Given the description of an element on the screen output the (x, y) to click on. 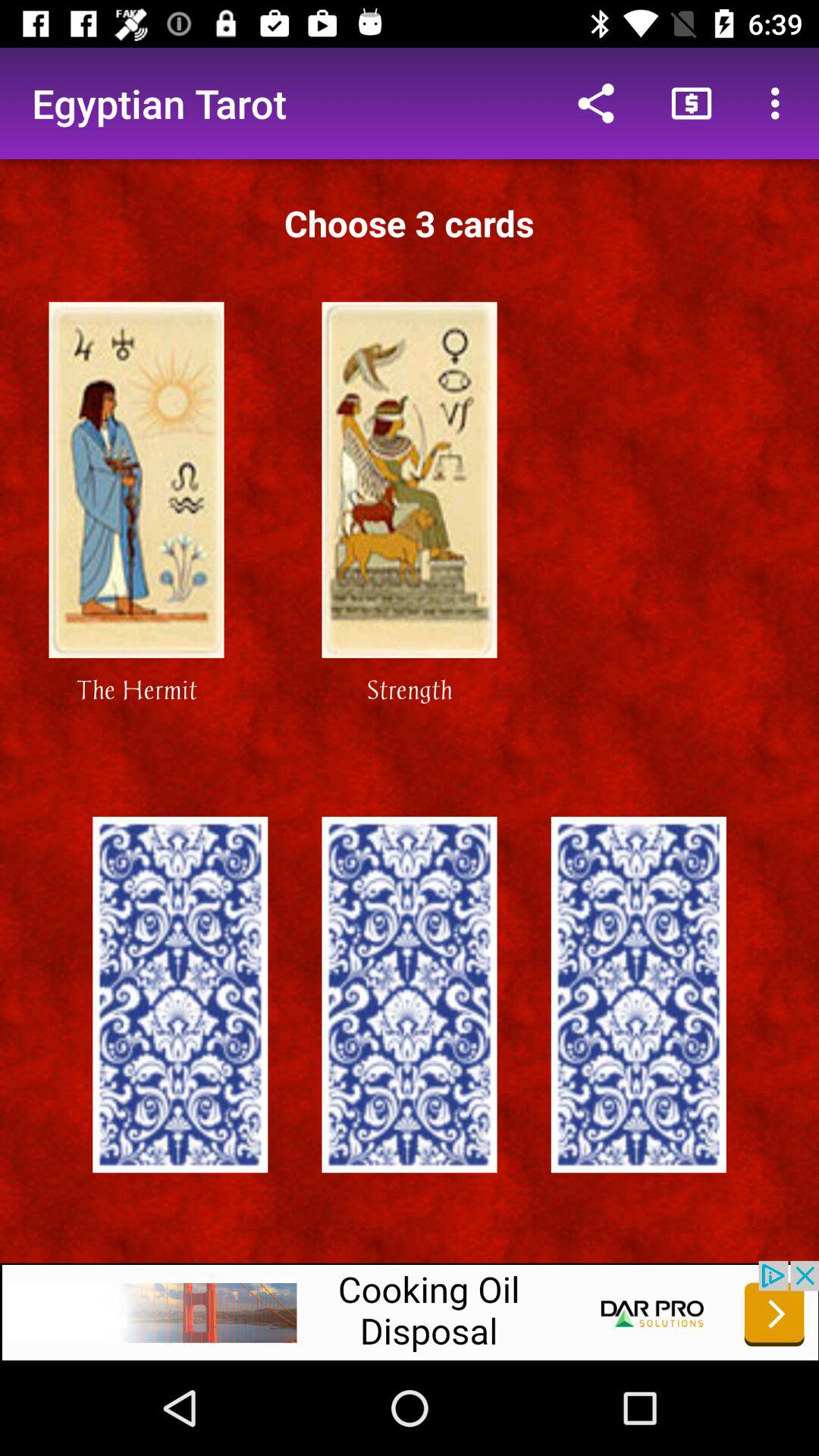
toggle to advertisement box (409, 1310)
